Given the description of an element on the screen output the (x, y) to click on. 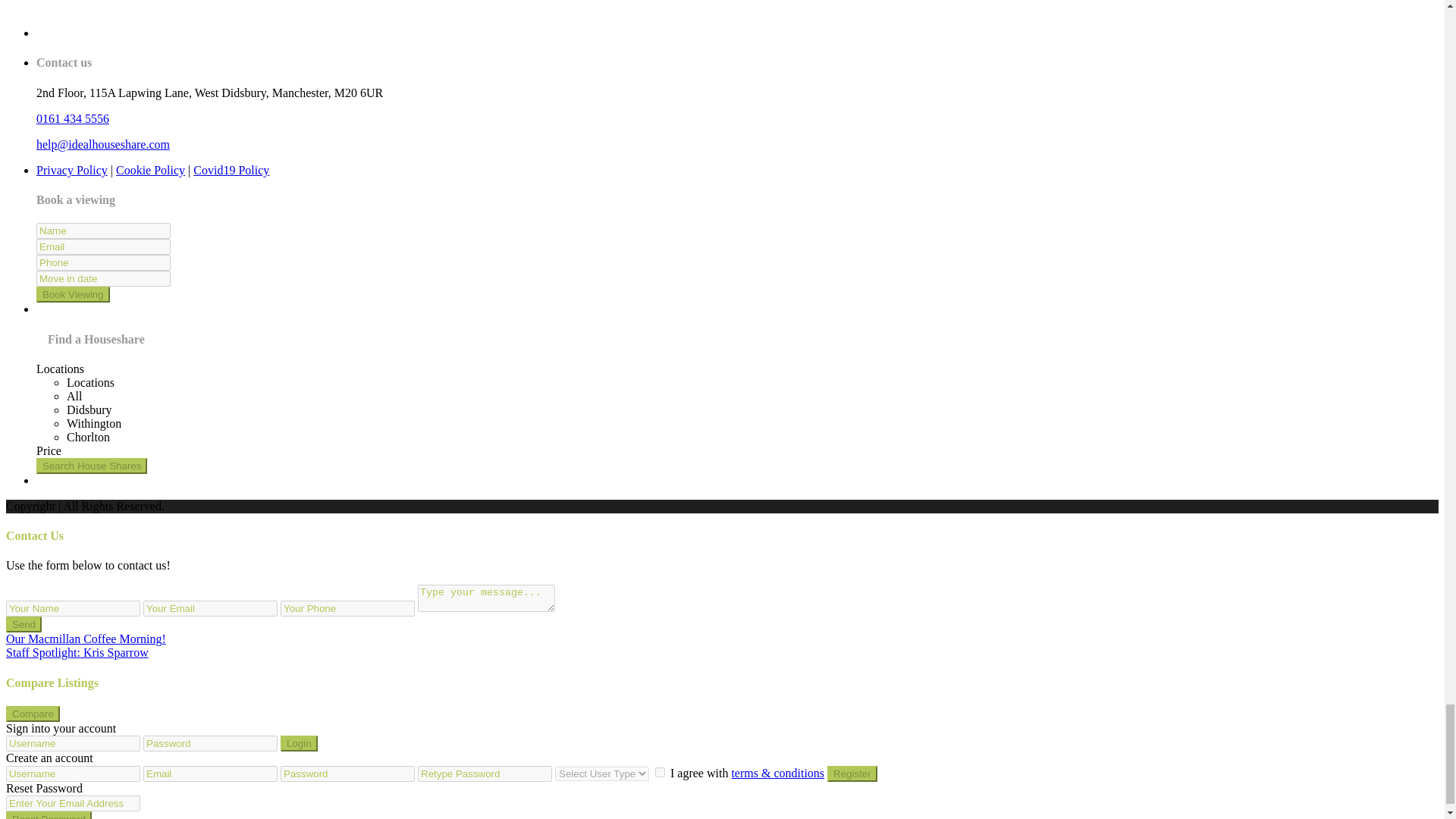
Search House Shares (91, 465)
Search House Shares (91, 465)
Book Viewing (73, 294)
